Given the description of an element on the screen output the (x, y) to click on. 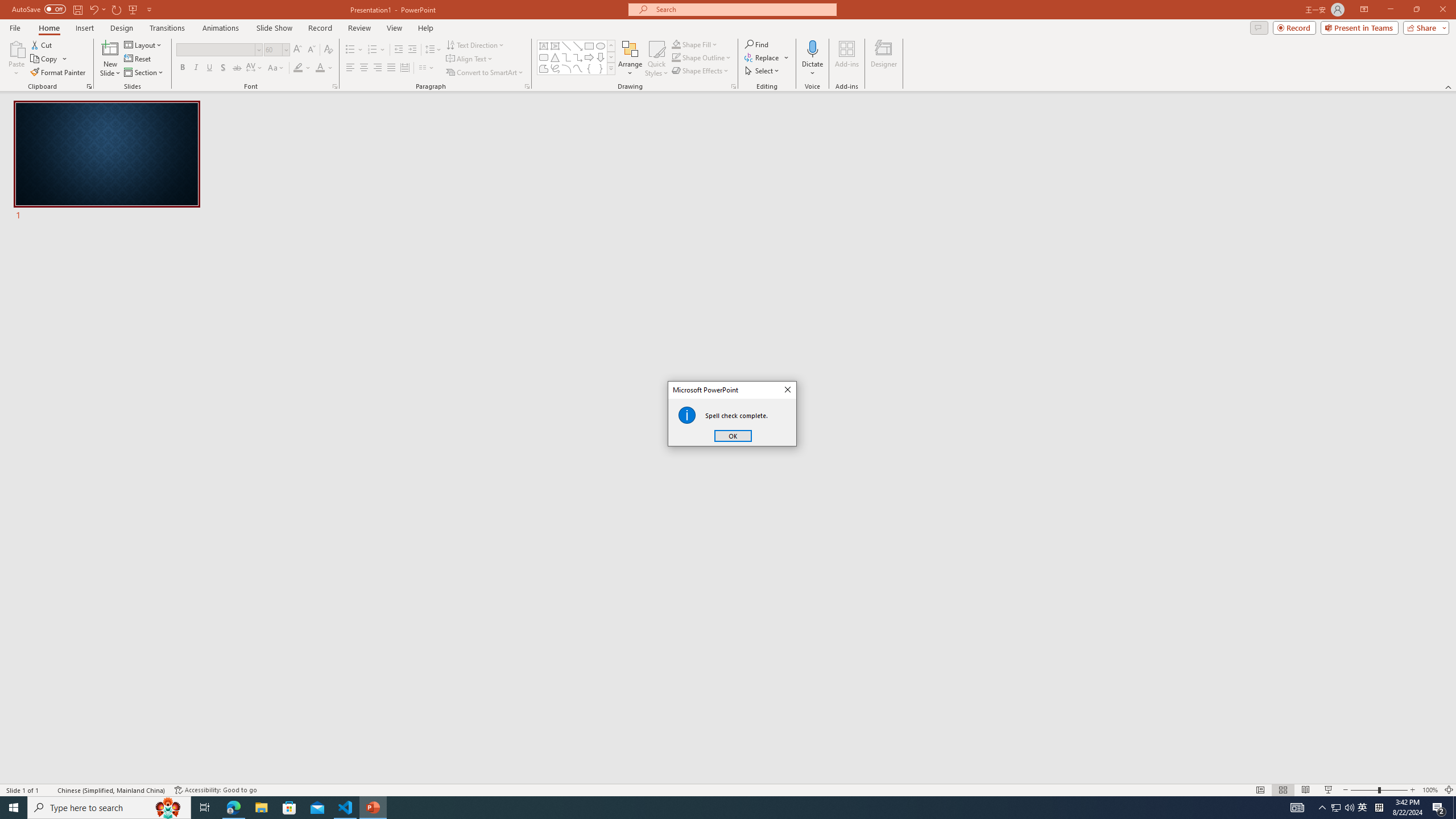
Class: Static (686, 415)
